Given the description of an element on the screen output the (x, y) to click on. 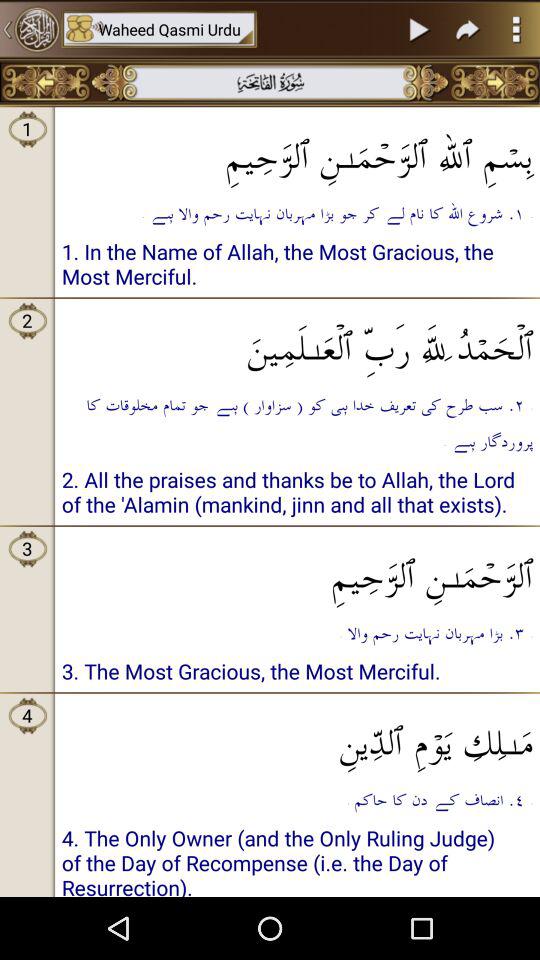
go back goes to previous menu (30, 29)
